Given the description of an element on the screen output the (x, y) to click on. 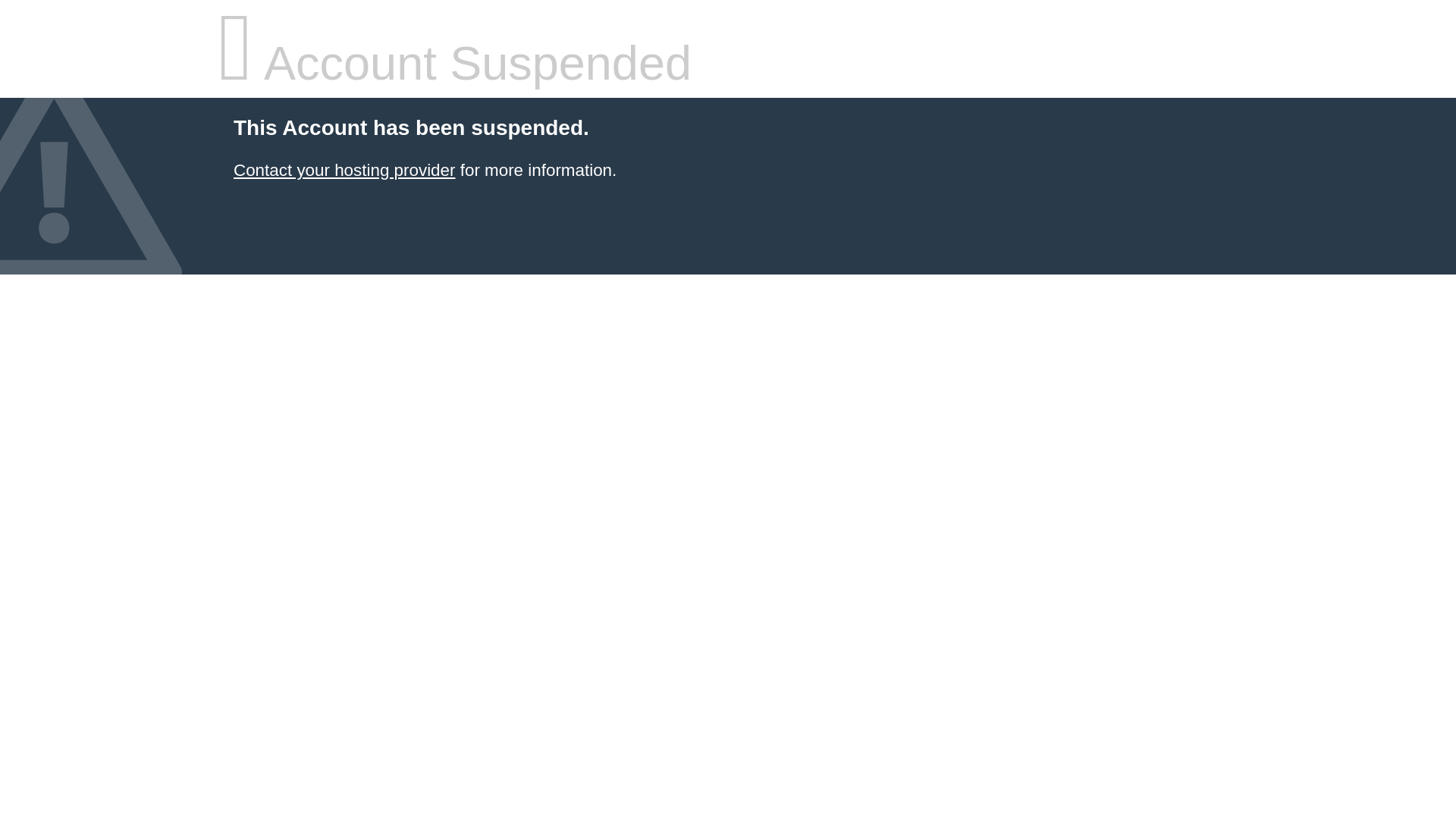
Contact your hosting provider (343, 169)
Nikolai NL Design Studio (343, 169)
